Given the description of an element on the screen output the (x, y) to click on. 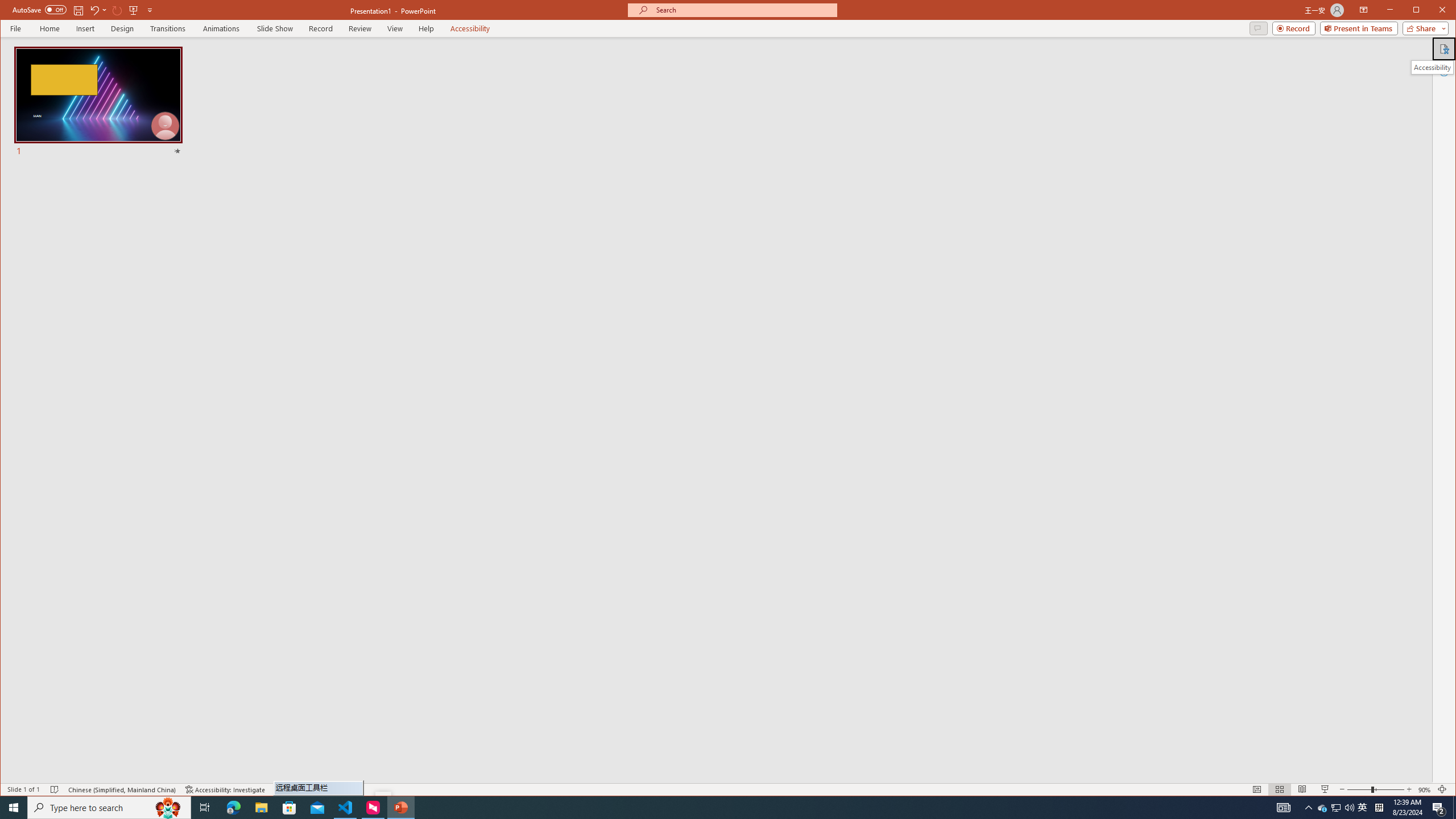
Zoom 90% (1424, 789)
